Given the description of an element on the screen output the (x, y) to click on. 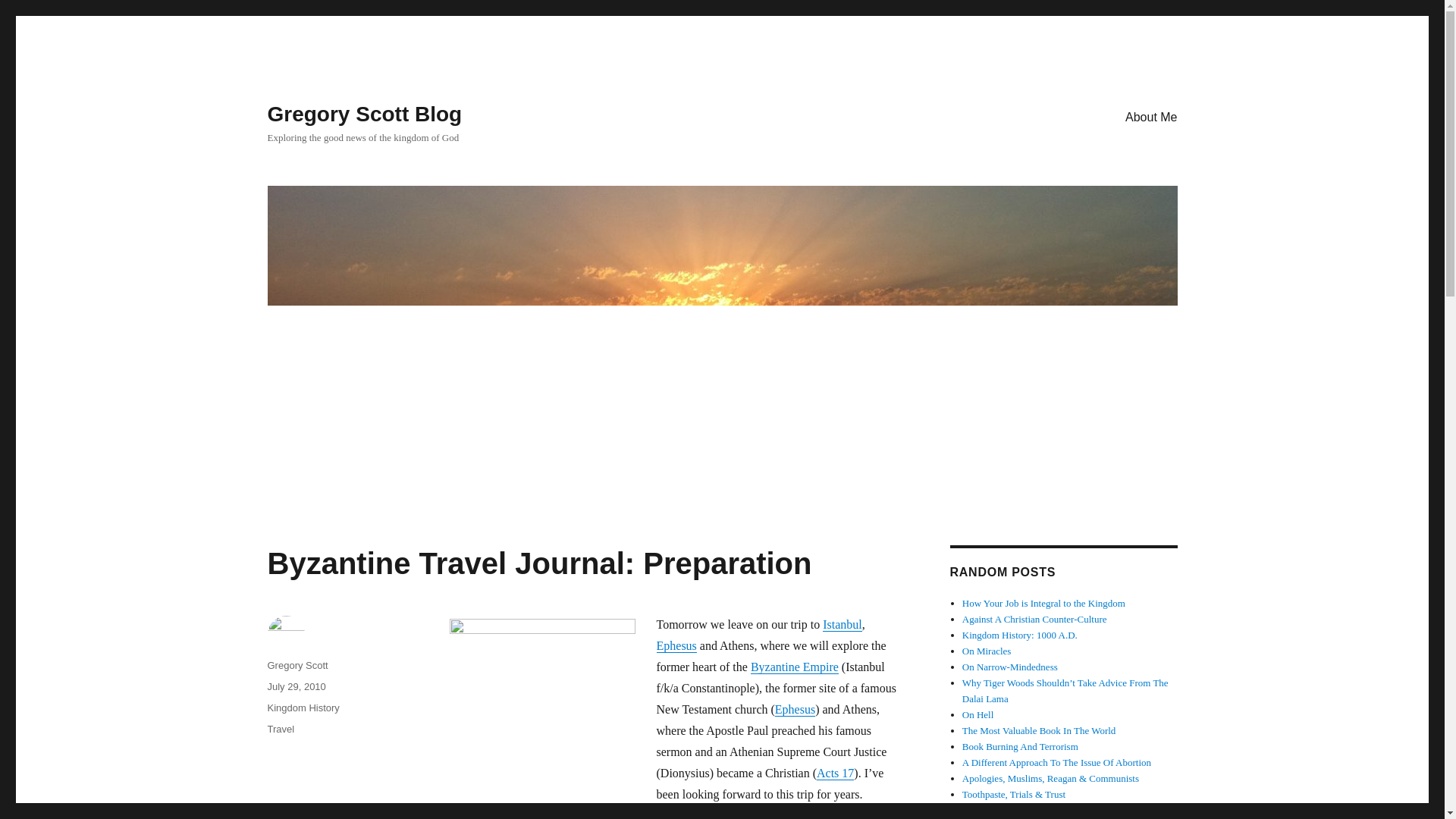
On Hell (978, 714)
Ephesus (794, 708)
Ephesus (676, 645)
July 29, 2010 (295, 686)
On Narrow-Mindedness (1010, 666)
Travel (280, 728)
A Different Approach To The Issue Of Abortion (1056, 762)
Acts 17 (834, 772)
The Most Valuable Book In The World (1039, 730)
Gregory Scott (296, 665)
On Miracles (986, 650)
The Poison We Drink (1004, 809)
About Me (1151, 116)
Kingdom History (302, 707)
How Your Job is Integral to the Kingdom (1043, 603)
